Given the description of an element on the screen output the (x, y) to click on. 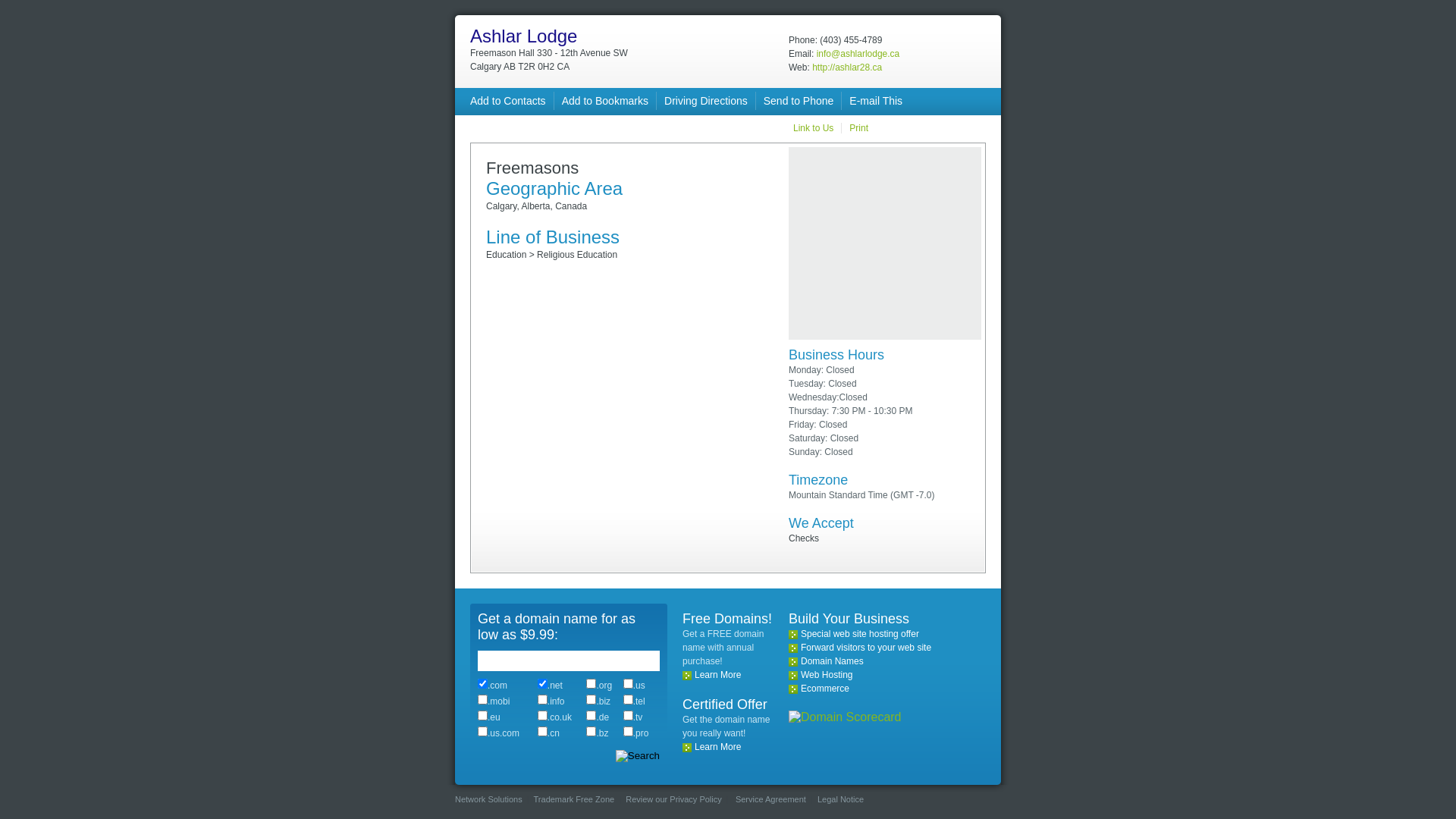
info@ashlarlodge.ca Element type: text (858, 53)
Domain Names Element type: text (831, 660)
Driving Directions Element type: text (705, 100)
Link to Us Element type: text (813, 127)
Add to Contacts Element type: text (508, 100)
Network Solutions Element type: text (488, 798)
E-mail This Element type: text (875, 100)
Learn More Element type: text (717, 746)
http://ashlar28.ca Element type: text (846, 67)
Legal Notice Element type: text (840, 798)
Web Hosting Element type: text (826, 674)
Special web site hosting offer Element type: text (859, 633)
Review our Privacy Policy Element type: text (673, 798)
Print Element type: text (858, 127)
Add to Bookmarks Element type: text (604, 100)
Ecommerce Element type: text (824, 688)
Learn More Element type: text (717, 674)
Forward visitors to your web site Element type: text (865, 647)
Send to Phone Element type: text (798, 100)
Service Agreement Element type: text (770, 798)
Trademark Free Zone Element type: text (574, 798)
